Given the description of an element on the screen output the (x, y) to click on. 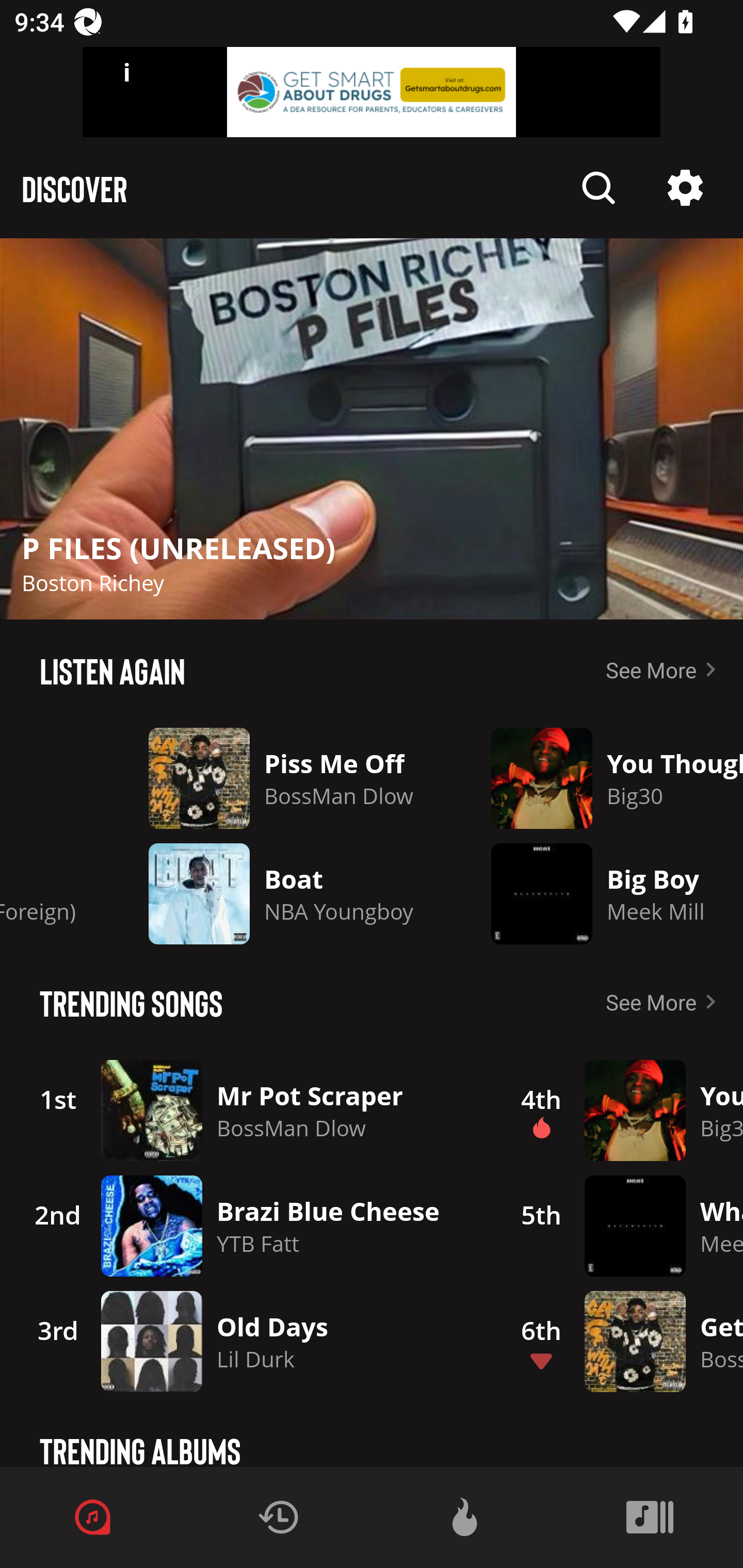
Description (598, 188)
Description (684, 188)
Description (371, 428)
See More (664, 669)
Description Piss Me Off BossMan Dlow (283, 778)
Description You Thought Big30 (602, 778)
Description Boat NBA Youngboy (283, 893)
Description Big Boy Meek Mill (602, 893)
See More (664, 1001)
1st Description Mr Pot Scraper BossMan Dlow (248, 1110)
4th Description Description You Thought Big30 (620, 1110)
2nd Description Brazi Blue Cheese YTB Fatt (248, 1226)
3rd Description Old Days Lil Durk (248, 1341)
